Given the description of an element on the screen output the (x, y) to click on. 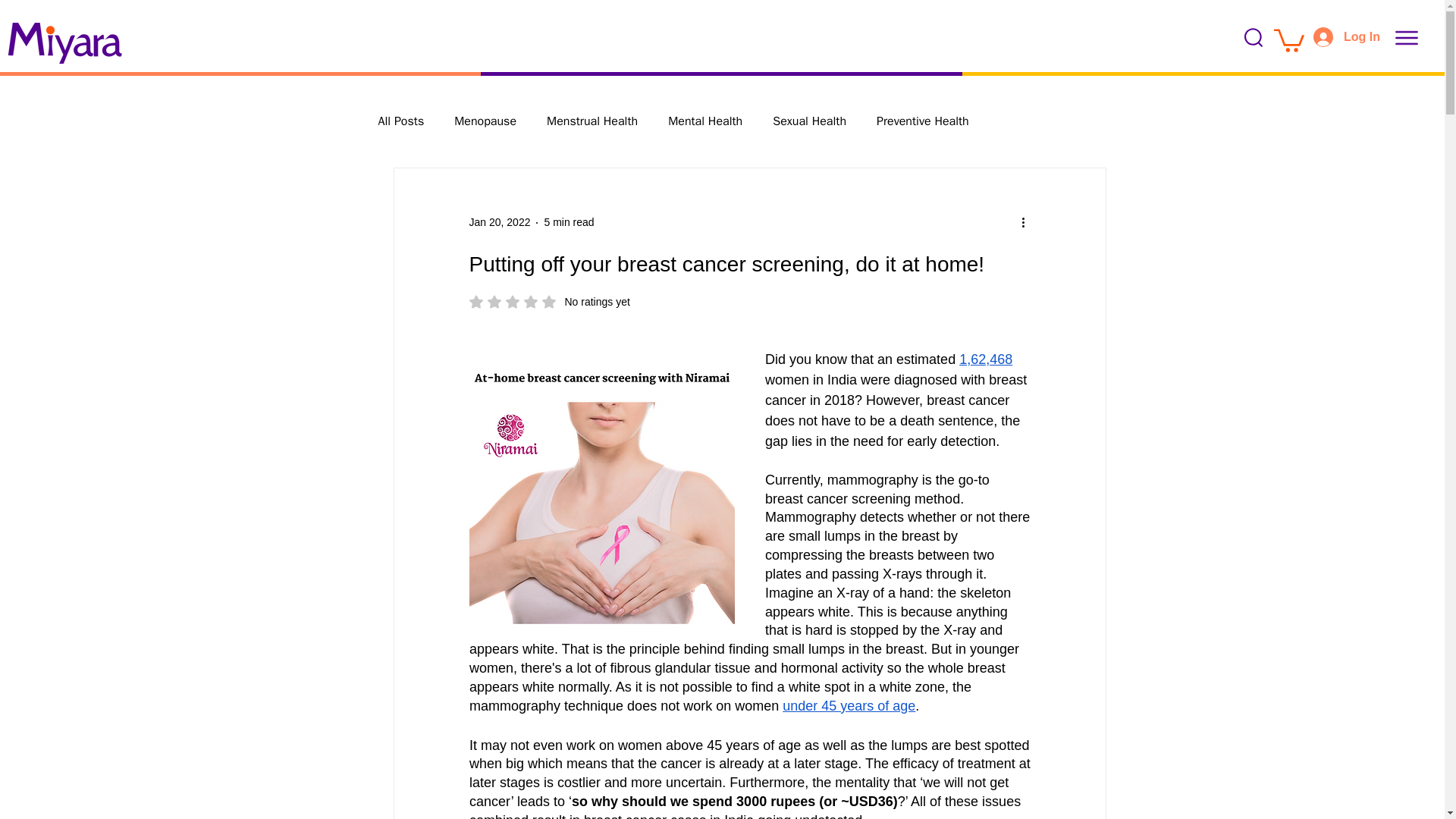
All Posts (400, 121)
1,62,468 (985, 359)
Preventive Health (922, 121)
Menstrual Health (592, 121)
Menopause (548, 301)
Mental Health (485, 121)
Jan 20, 2022 (705, 121)
Sexual Health (498, 222)
Log In (809, 121)
under 45 years of age (1346, 36)
5 min read (849, 704)
